Given the description of an element on the screen output the (x, y) to click on. 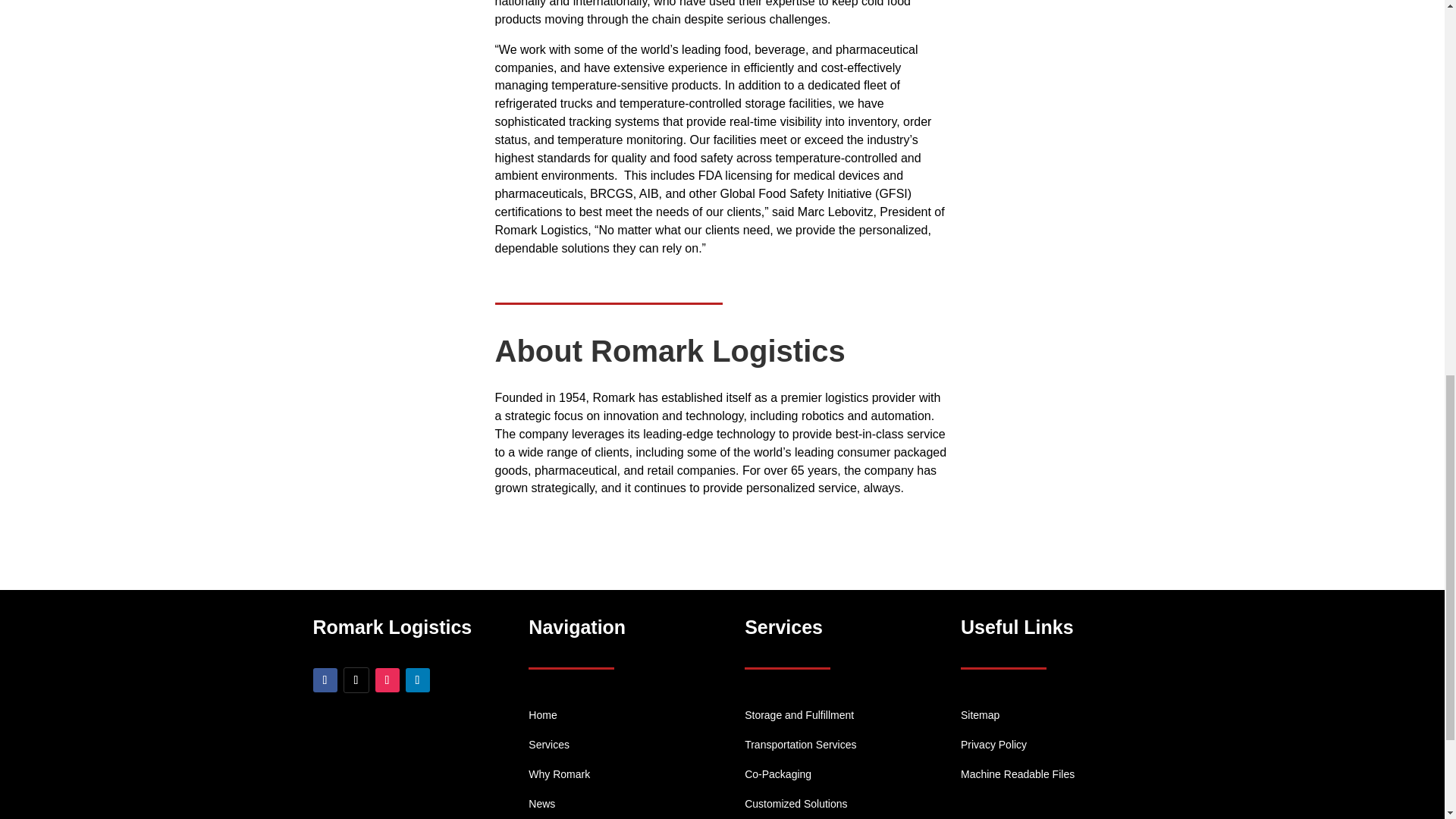
Follow on X (355, 679)
Follow on Facebook (324, 680)
Follow on Instagram (386, 680)
Follow on LinkedIn (416, 680)
